Given the description of an element on the screen output the (x, y) to click on. 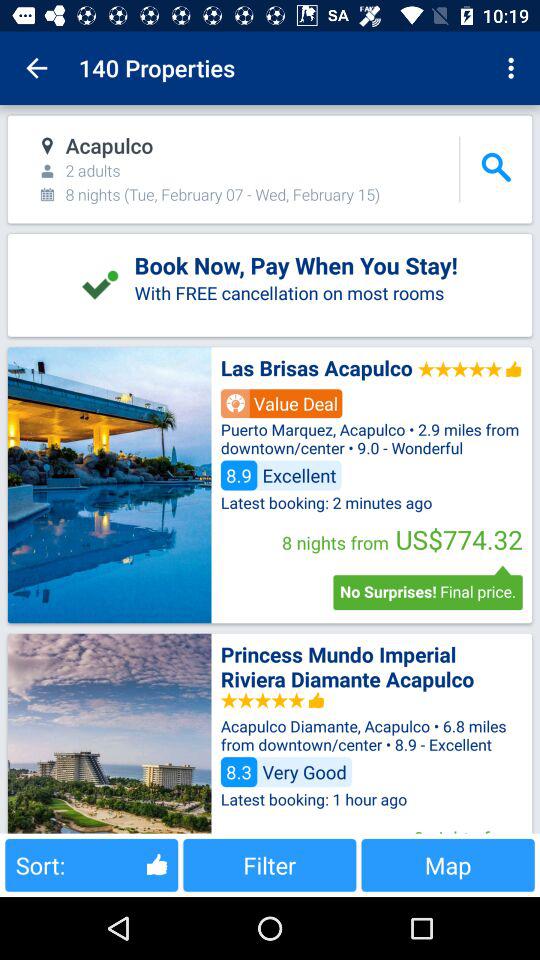
open website (109, 485)
